Given the description of an element on the screen output the (x, y) to click on. 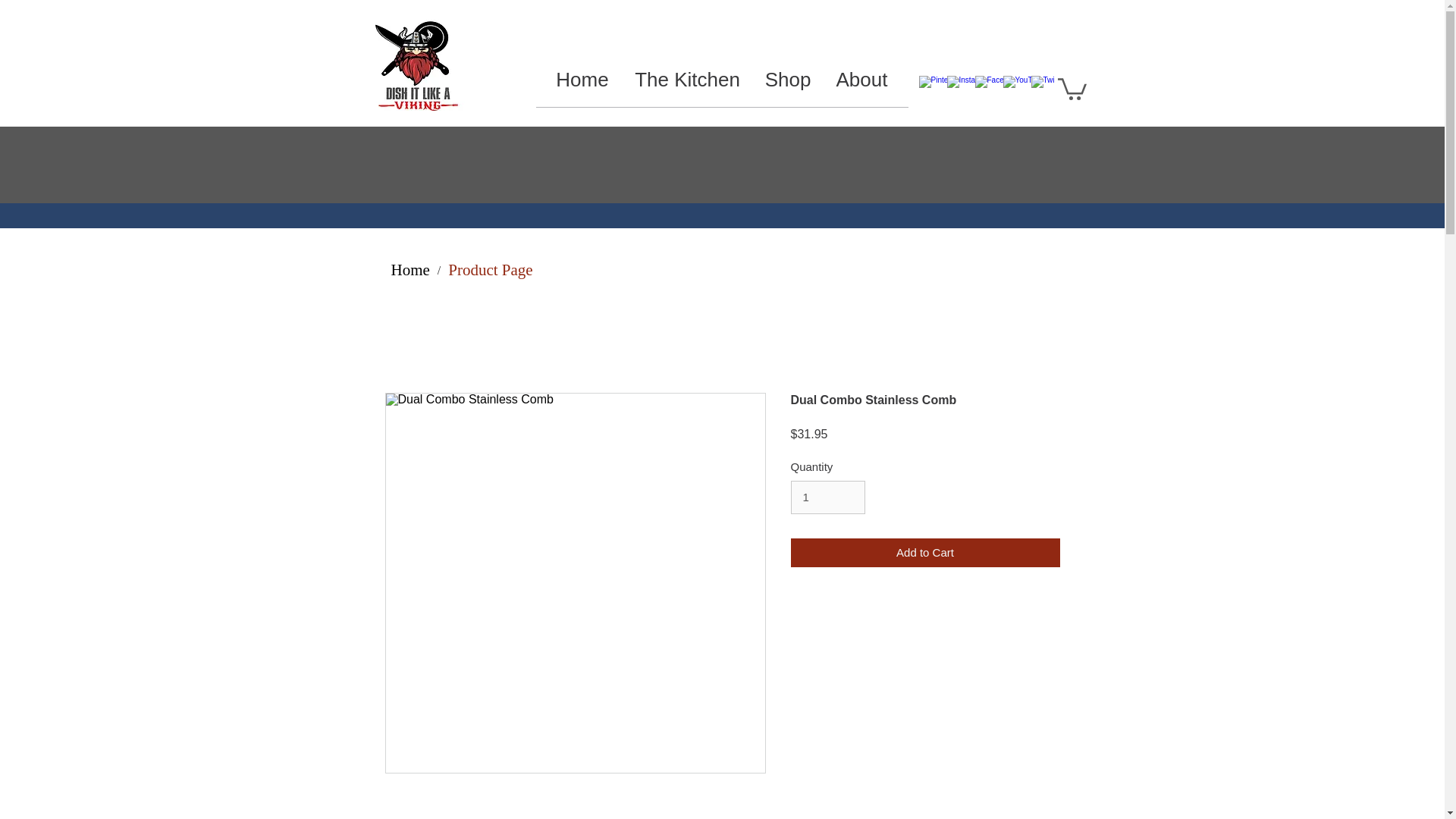
1 (827, 497)
Product Page (679, 9)
The Kitchen (686, 79)
Home (582, 79)
Home (613, 9)
About (861, 79)
Home (411, 269)
Product Page (490, 269)
Add to Cart (924, 553)
